Given the description of an element on the screen output the (x, y) to click on. 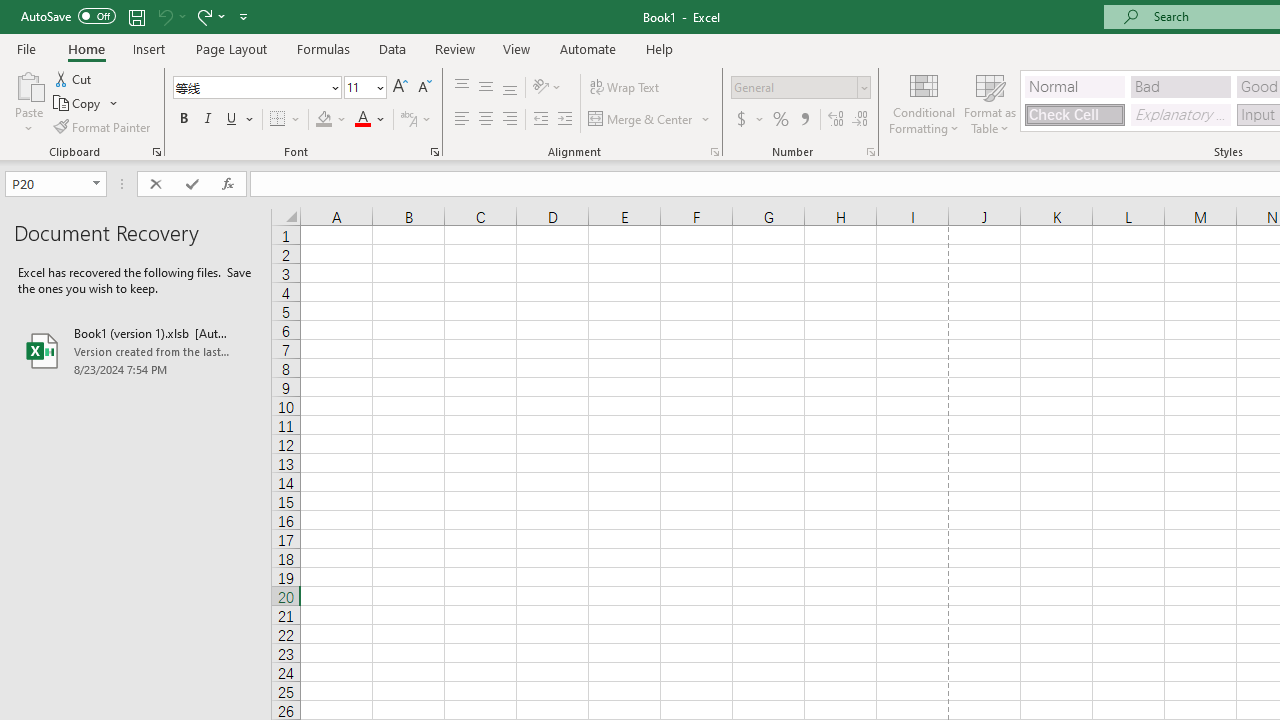
Increase Decimal (836, 119)
Number Format (800, 87)
Home (86, 48)
Merge & Center (641, 119)
Show Phonetic Field (416, 119)
